Given the description of an element on the screen output the (x, y) to click on. 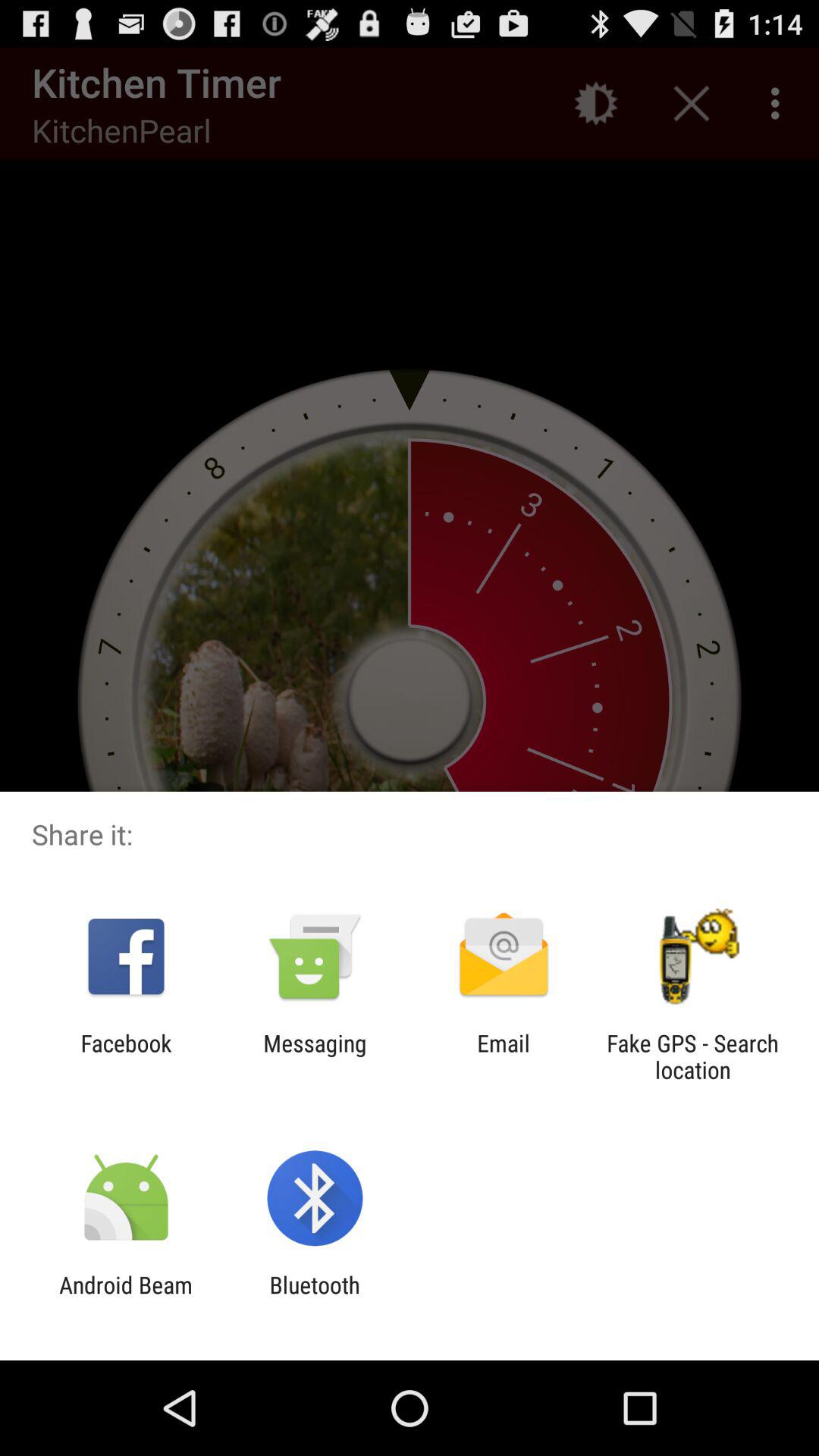
turn off the fake gps search item (692, 1056)
